Given the description of an element on the screen output the (x, y) to click on. 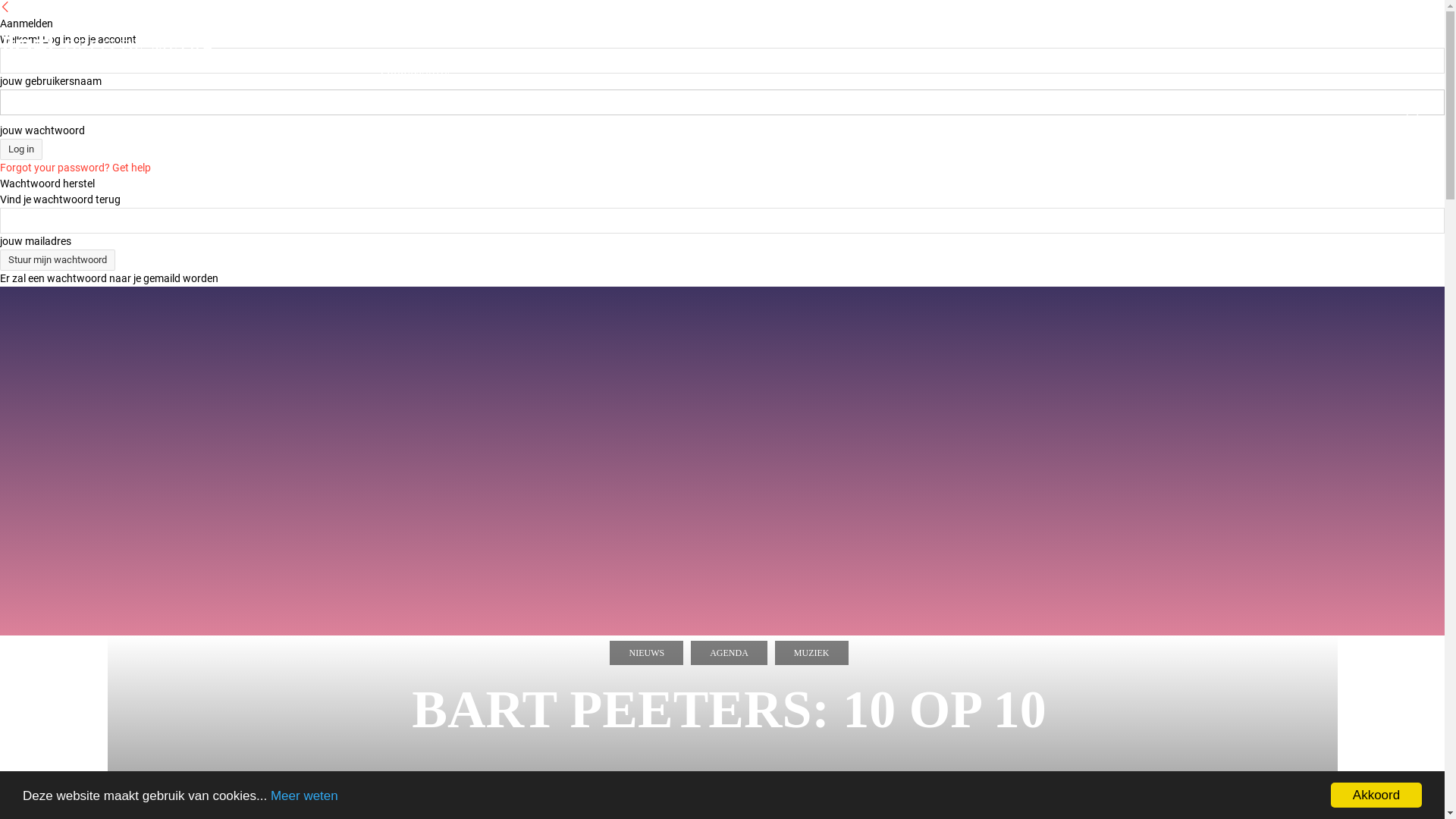
Politiek Element type: text (949, 37)
Economie Element type: text (1019, 37)
Cultuur Element type: text (528, 37)
MUZIEK Element type: text (811, 652)
Computer Element type: text (675, 37)
Dieren Element type: text (1370, 37)
Meer weten Element type: text (304, 795)
Auto Element type: text (1170, 37)
Muziek Element type: text (464, 37)
Gezondheid Element type: text (1102, 37)
NIEUWS Element type: text (646, 652)
Opmerkelijk Element type: text (415, 74)
Akkoord Element type: text (1375, 794)
BELG.BE MEDIA
HET NIEUWS ANDERS BEKEKEN Element type: text (119, 51)
Showbizz Element type: text (599, 37)
Reizen en Vakantie Element type: text (778, 37)
Nieuws Element type: text (401, 37)
Huis en Tuin Element type: text (1294, 37)
Toerisme Element type: text (879, 37)
AGENDA Element type: text (728, 652)
Sport Element type: text (1221, 37)
Forgot your password? Get help Element type: text (75, 167)
